Given the description of an element on the screen output the (x, y) to click on. 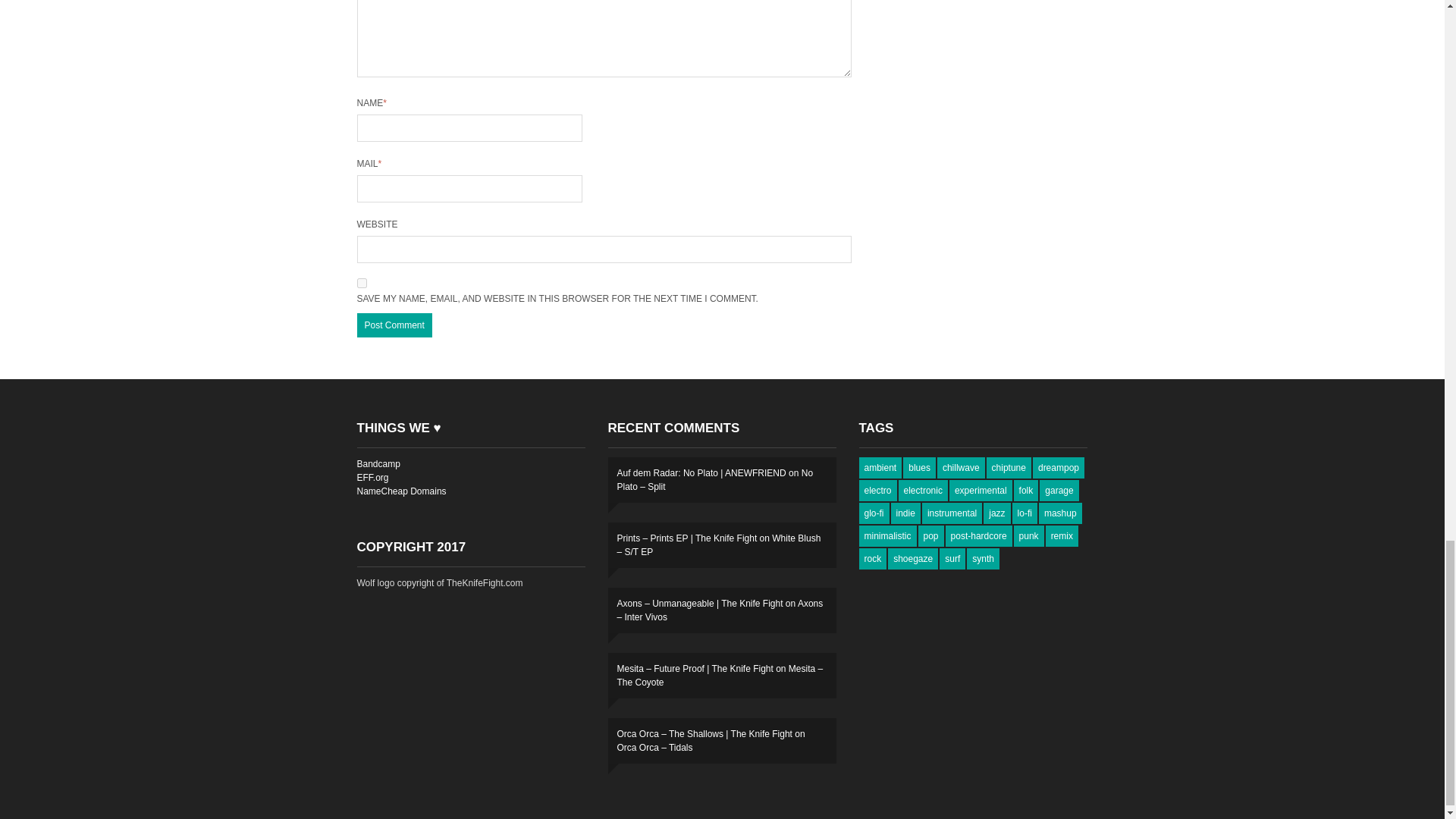
Post Comment (393, 324)
yes (361, 283)
Our favorite place to discover artists! (377, 463)
EFF.org (372, 477)
Forget GoDaddy! (400, 491)
NameCheap Domains (400, 491)
Defending Your Rights In The Digital World (372, 477)
Bandcamp (377, 463)
Post Comment (393, 324)
